Given the description of an element on the screen output the (x, y) to click on. 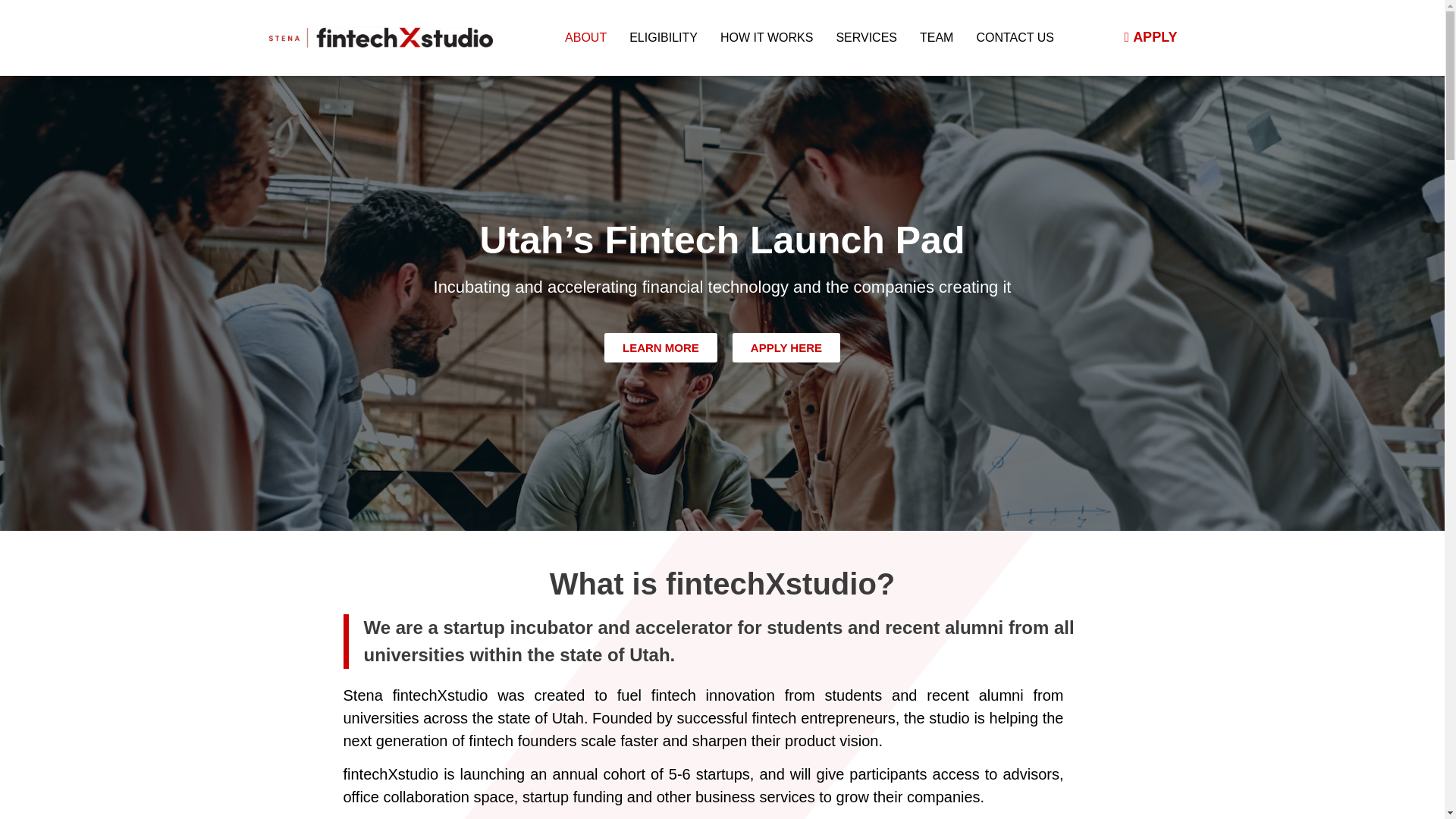
APPLY (1150, 37)
ELIGIBILITY (662, 37)
SERVICES (866, 37)
HOW IT WORKS (767, 37)
TEAM (936, 37)
CONTACT US (1014, 37)
ABOUT (585, 37)
